Given the description of an element on the screen output the (x, y) to click on. 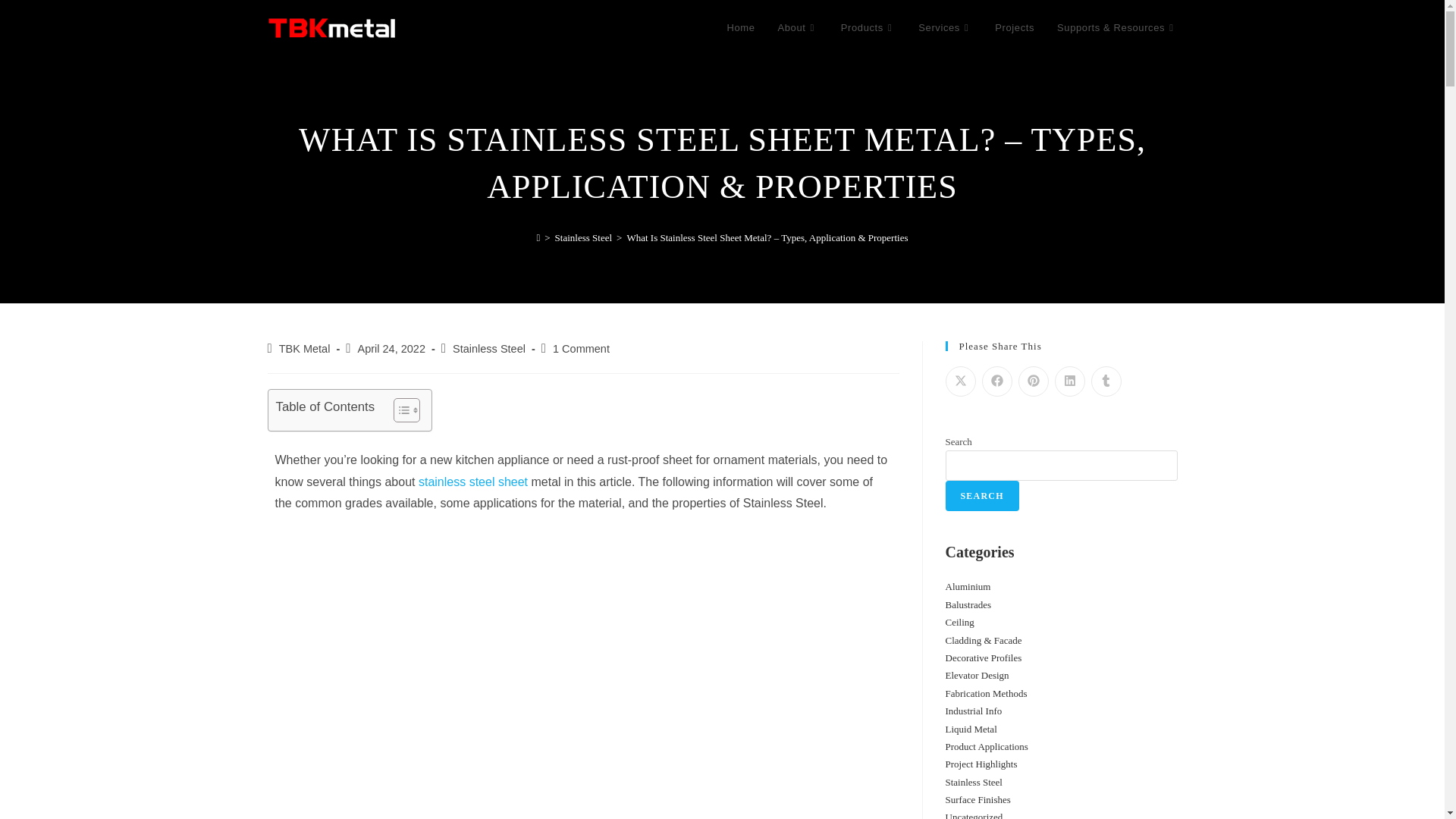
Products (868, 28)
Posts by TBK Metal (304, 348)
Home (739, 28)
About (796, 28)
